Given the description of an element on the screen output the (x, y) to click on. 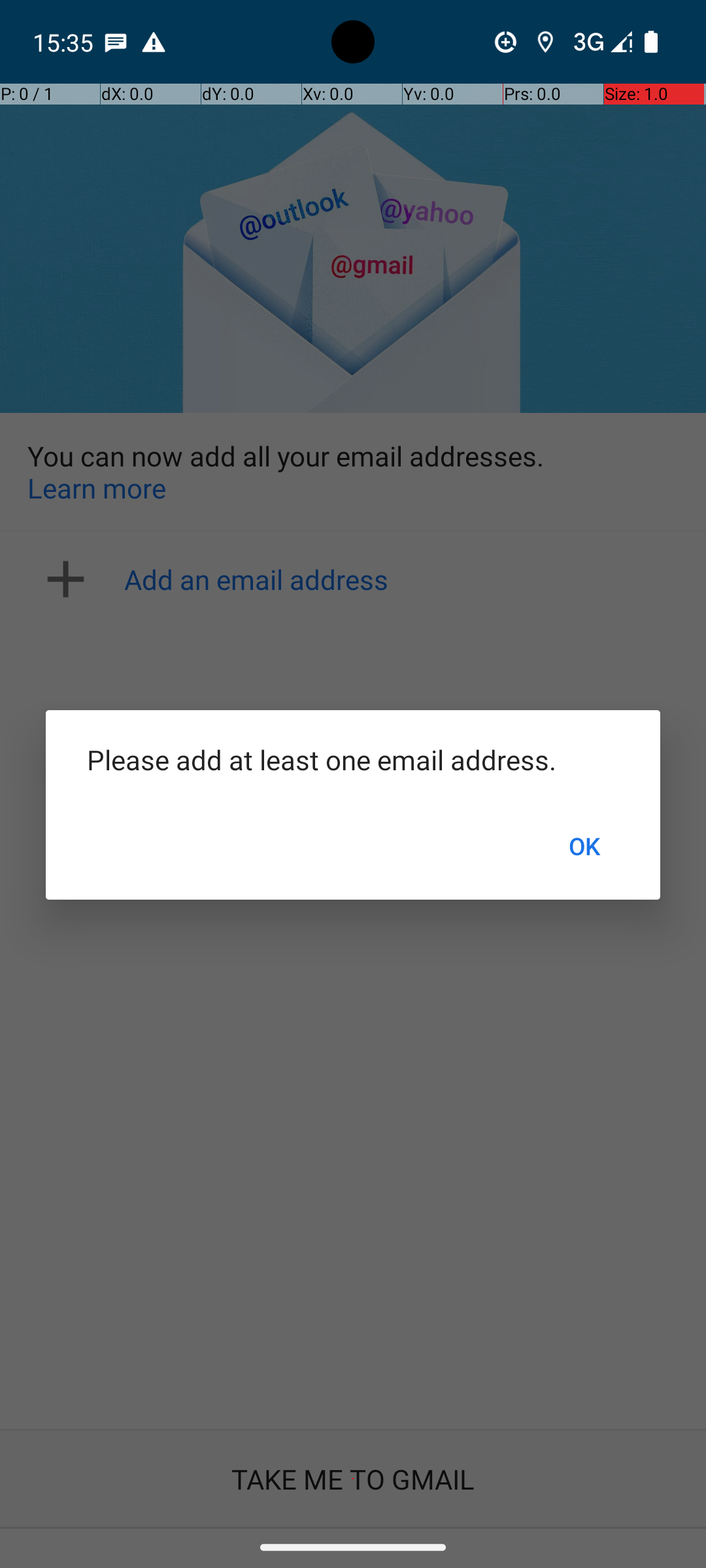
Please add at least one email address. Element type: android.widget.TextView (352, 759)
OK Element type: android.widget.Button (584, 845)
15:35 Element type: android.widget.TextView (64, 41)
Data Saver is on Element type: android.widget.ImageView (505, 41)
